Given the description of an element on the screen output the (x, y) to click on. 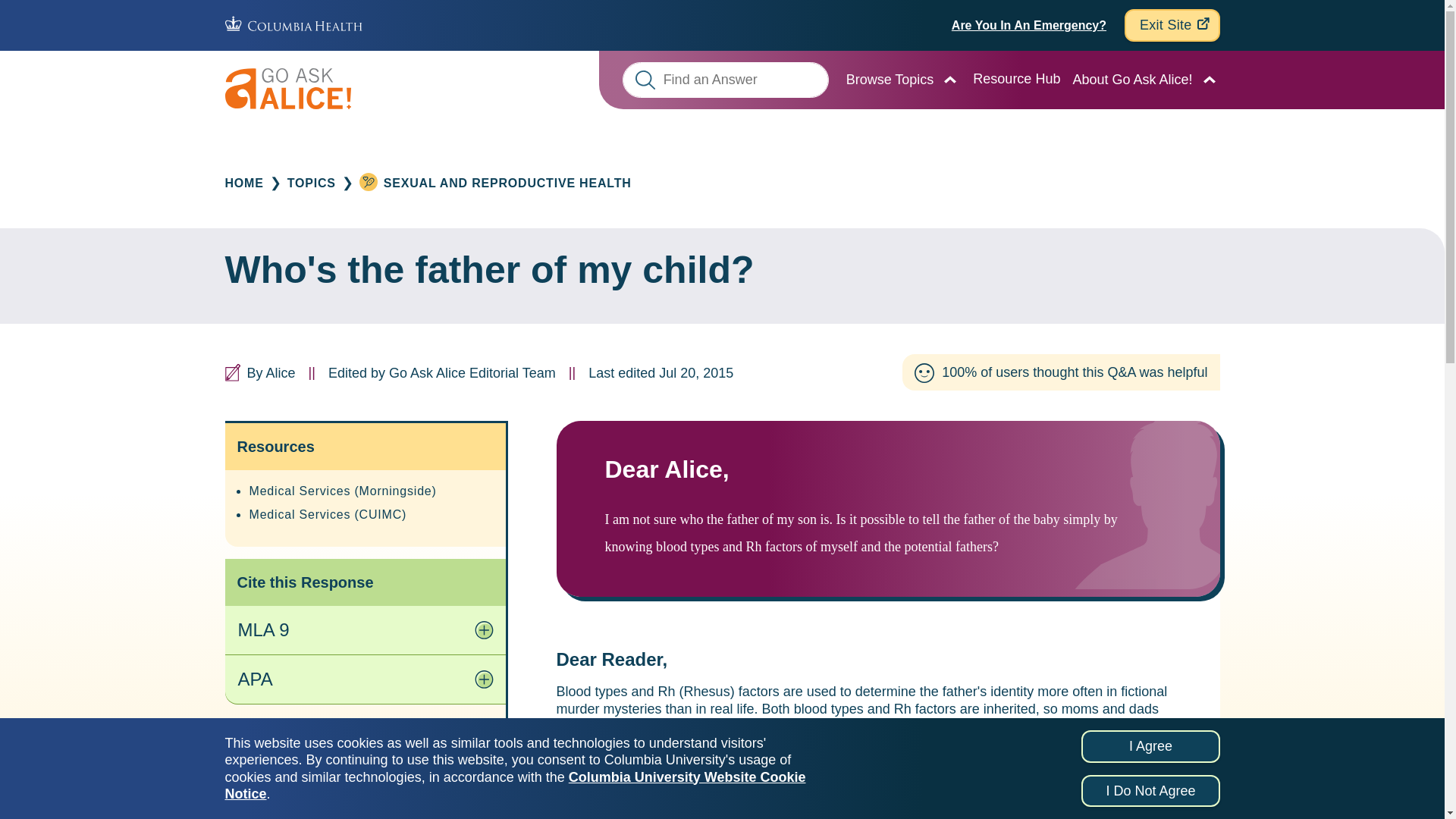
Resource Hub (1015, 78)
I Do Not Agree (1150, 790)
Are You In An Emergency? (1029, 24)
Exit Site (1172, 25)
Apply (645, 78)
Apply (645, 78)
Toggle Submenu (949, 79)
About Go Ask Alice! (1131, 79)
Apply (645, 78)
Browse Topics (889, 79)
Columbia University Website Cookie Notice (514, 785)
Toggle Submenu (1209, 79)
I Agree (1150, 746)
